Given the description of an element on the screen output the (x, y) to click on. 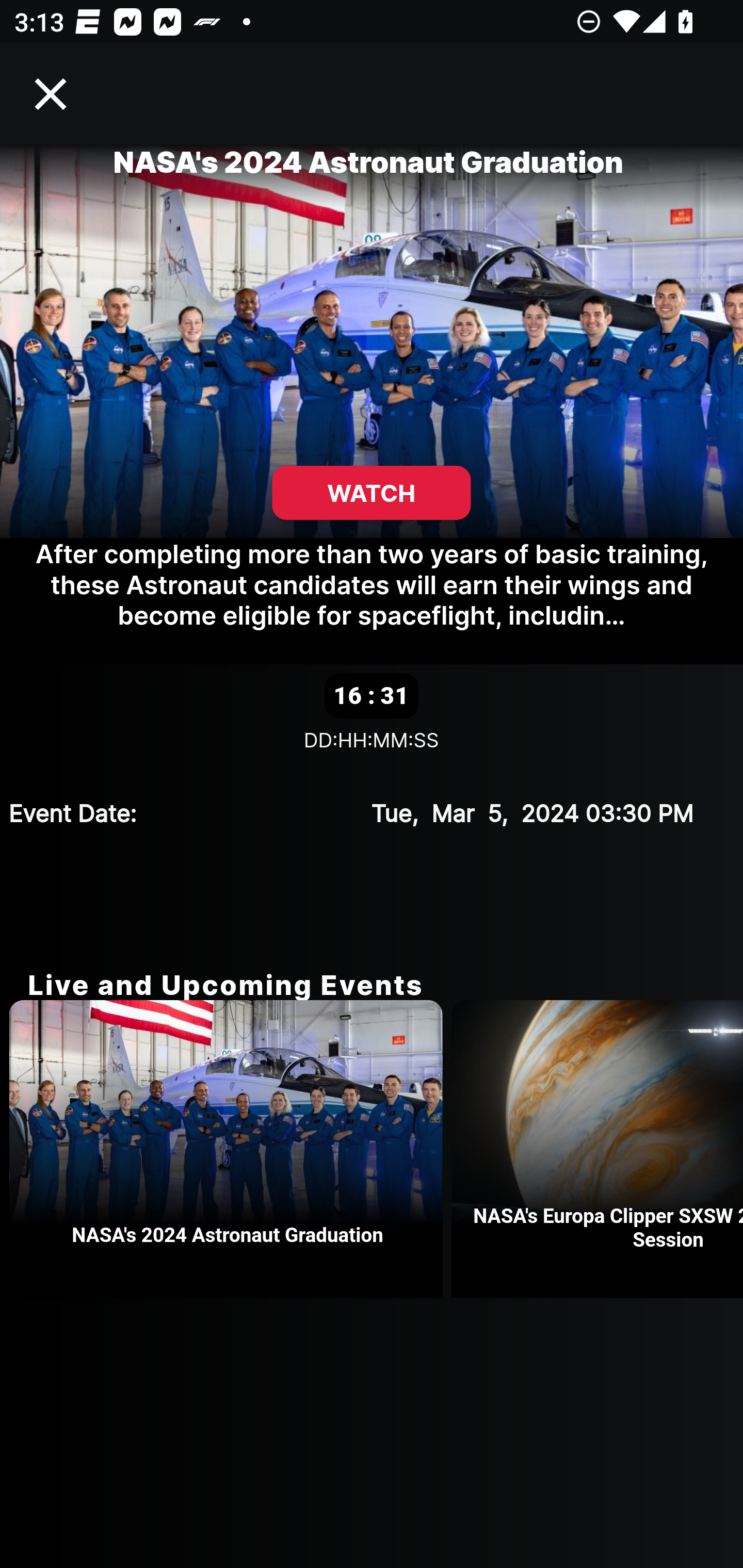
WATCH (371, 492)
NASA's 2024 Astronaut Graduation (229, 1149)
NASA's Europa Clipper SXSW 2024 Opening Session (597, 1149)
